Given the description of an element on the screen output the (x, y) to click on. 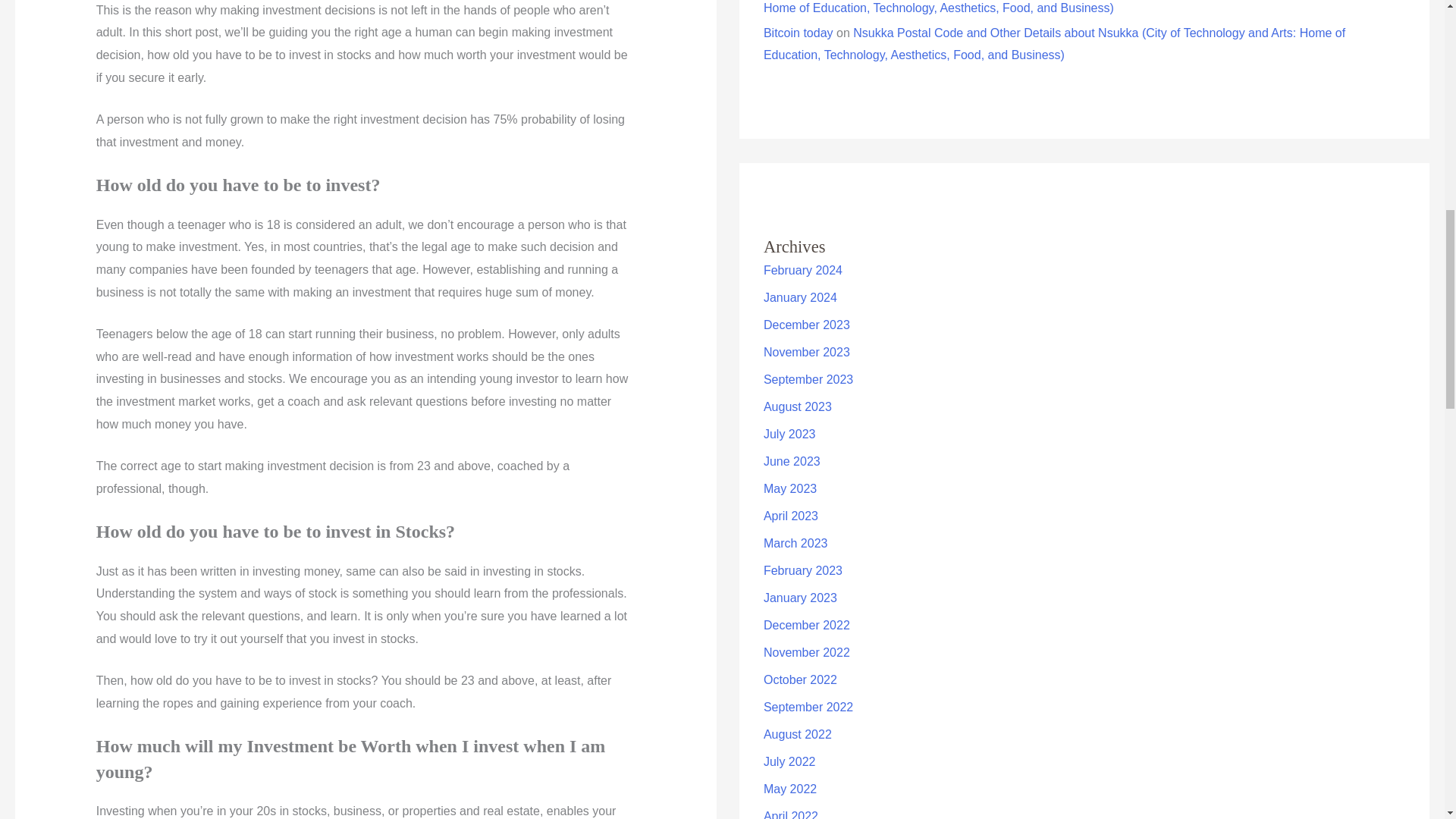
Bitcoin today (797, 32)
August 2023 (796, 406)
February 2024 (802, 269)
July 2023 (788, 433)
June 2023 (791, 461)
December 2023 (806, 324)
September 2023 (807, 379)
May 2023 (789, 488)
January 2024 (799, 297)
November 2023 (806, 351)
